Given the description of an element on the screen output the (x, y) to click on. 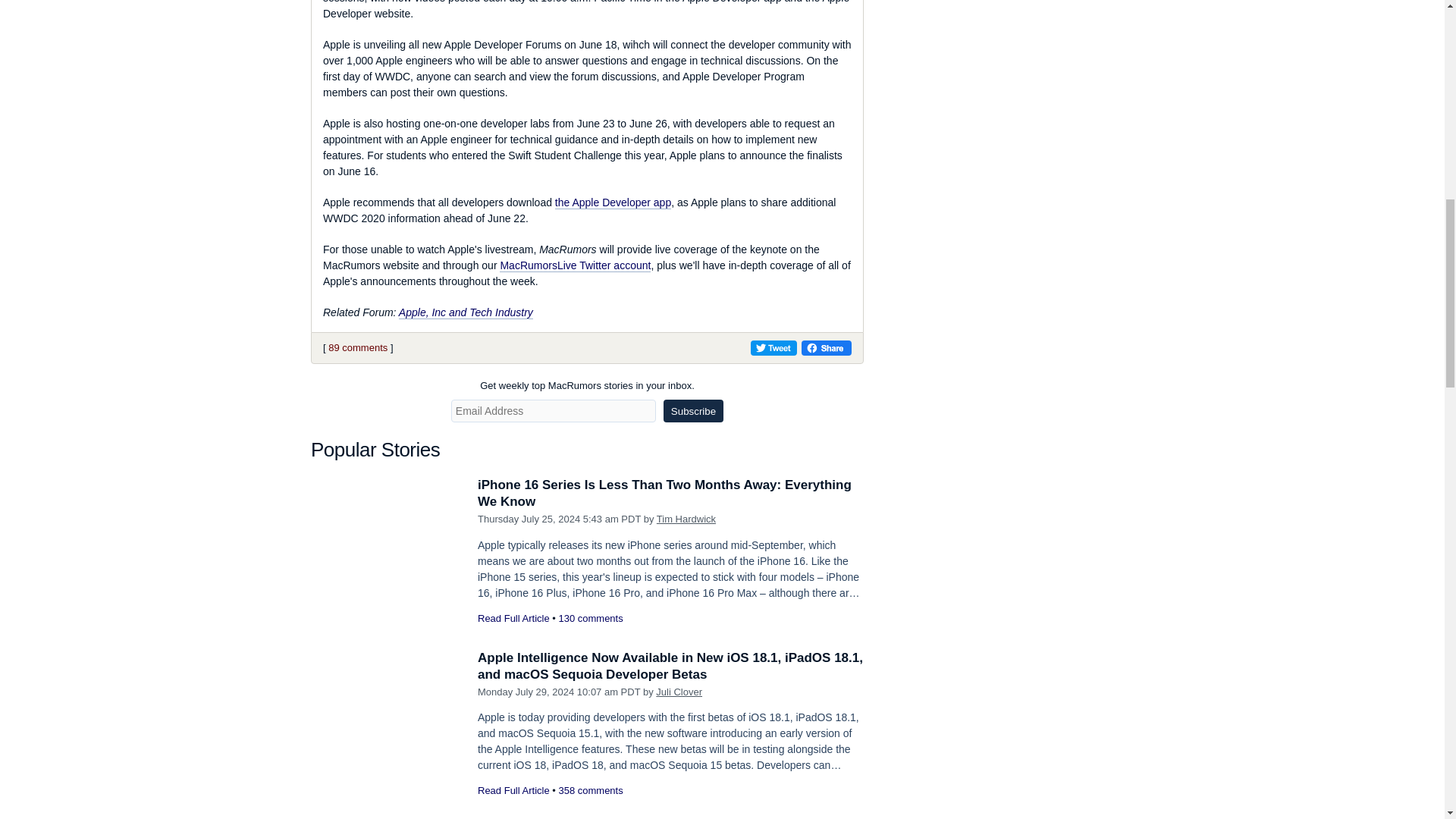
Subscribe (693, 410)
